Given the description of an element on the screen output the (x, y) to click on. 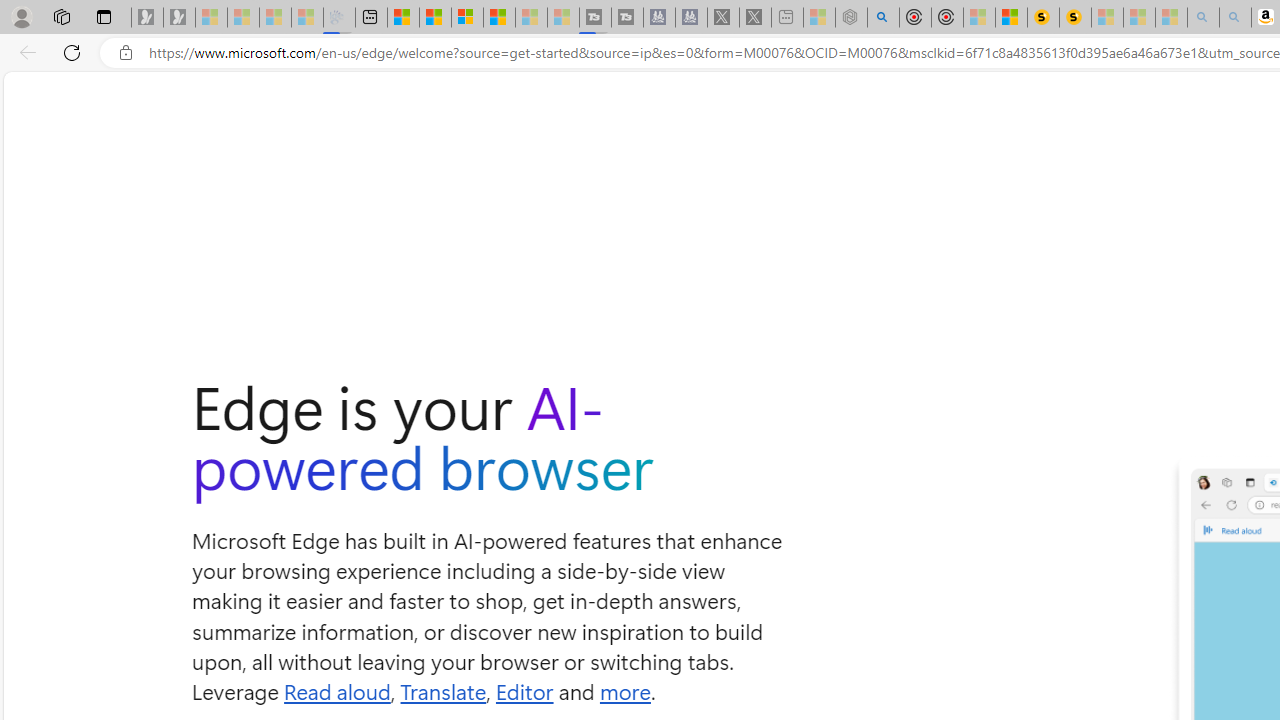
poe - Search (882, 17)
